Given the description of an element on the screen output the (x, y) to click on. 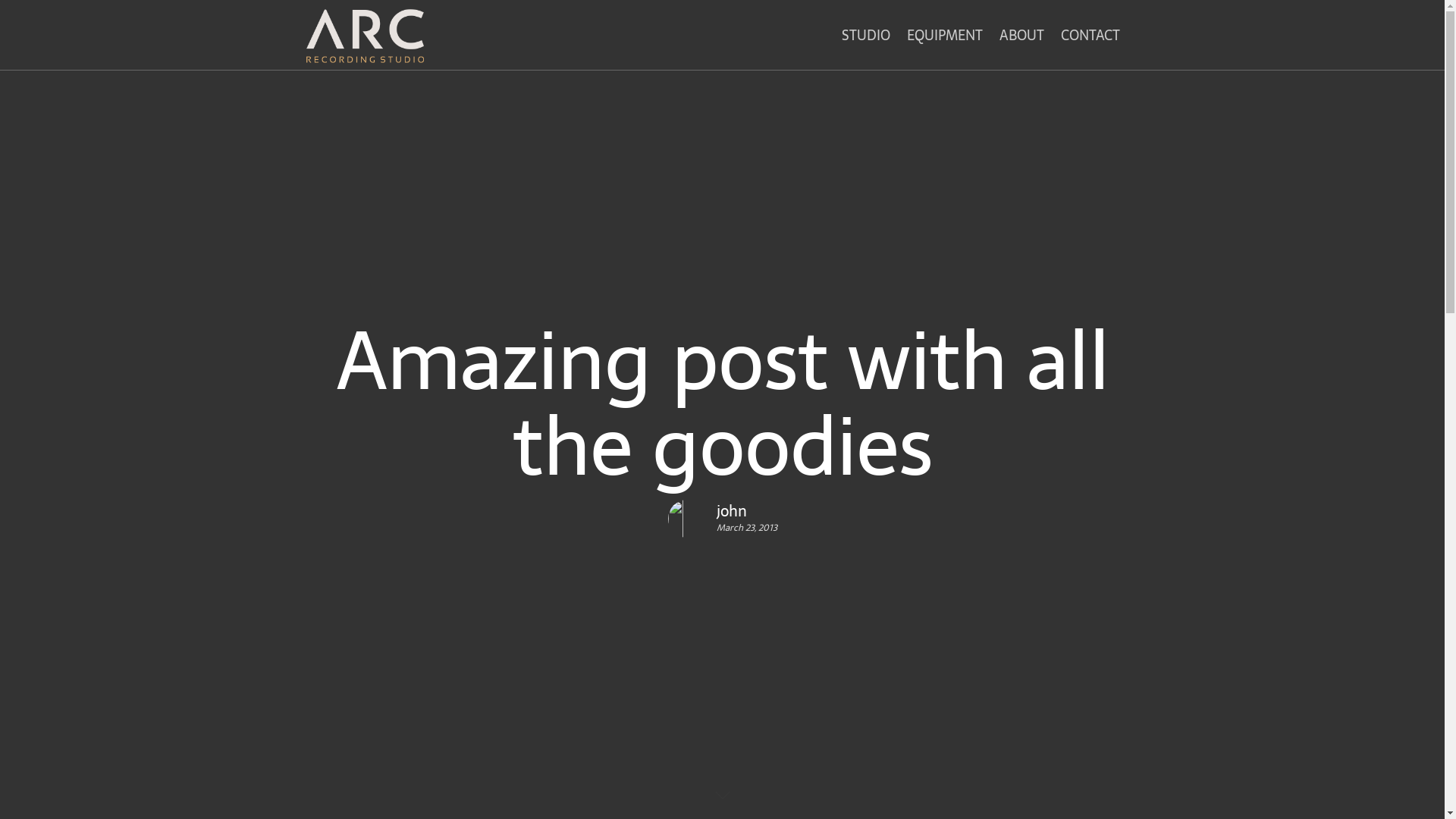
john Element type: text (745, 510)
CONTACT Element type: text (1089, 38)
ABOUT Element type: text (1021, 38)
EQUIPMENT Element type: text (944, 38)
STUDIO Element type: text (865, 38)
